Given the description of an element on the screen output the (x, y) to click on. 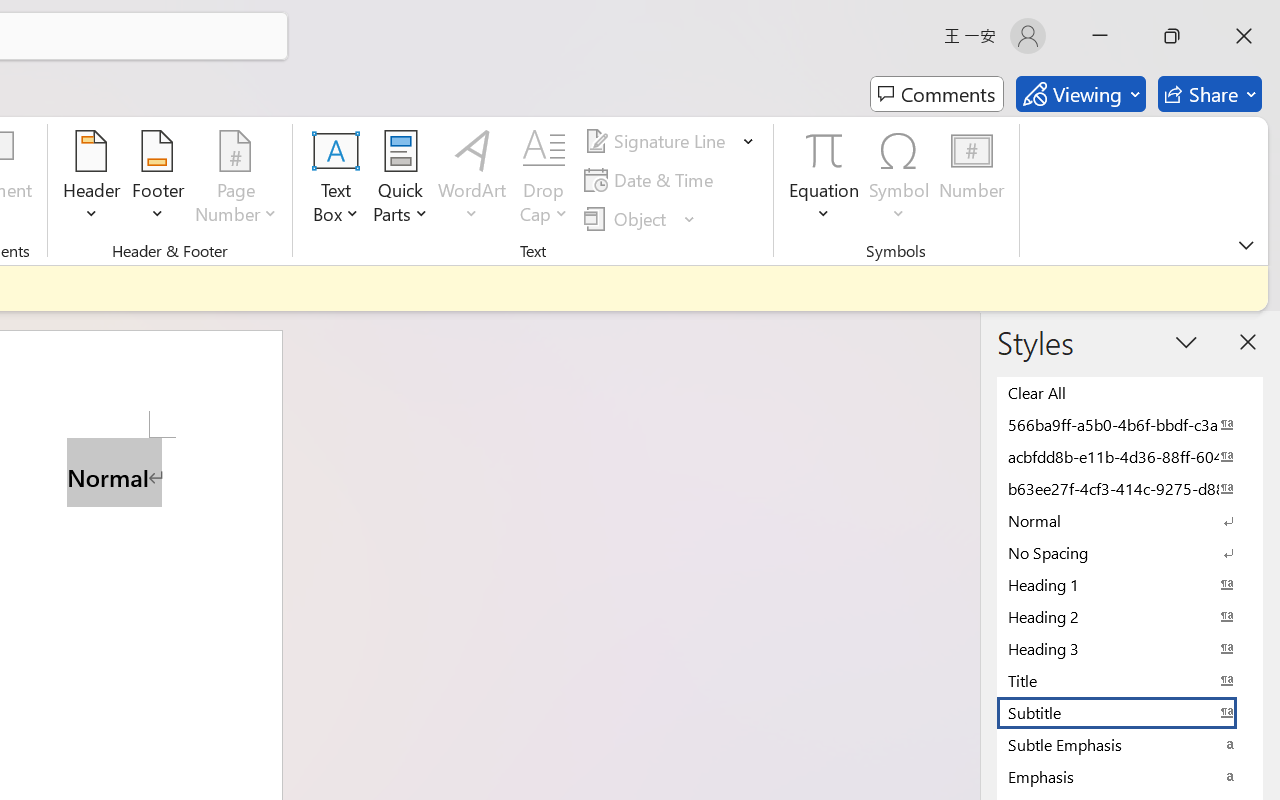
Number... (971, 179)
Drop Cap (543, 179)
Symbol (899, 179)
Heading 1 (1130, 584)
No Spacing (1130, 552)
Title (1130, 680)
Task Pane Options (1186, 342)
Heading 3 (1130, 648)
Object... (640, 218)
Date & Time... (651, 179)
acbfdd8b-e11b-4d36-88ff-6049b138f862 (1130, 456)
Mode (1080, 94)
Text Box (335, 179)
